Given the description of an element on the screen output the (x, y) to click on. 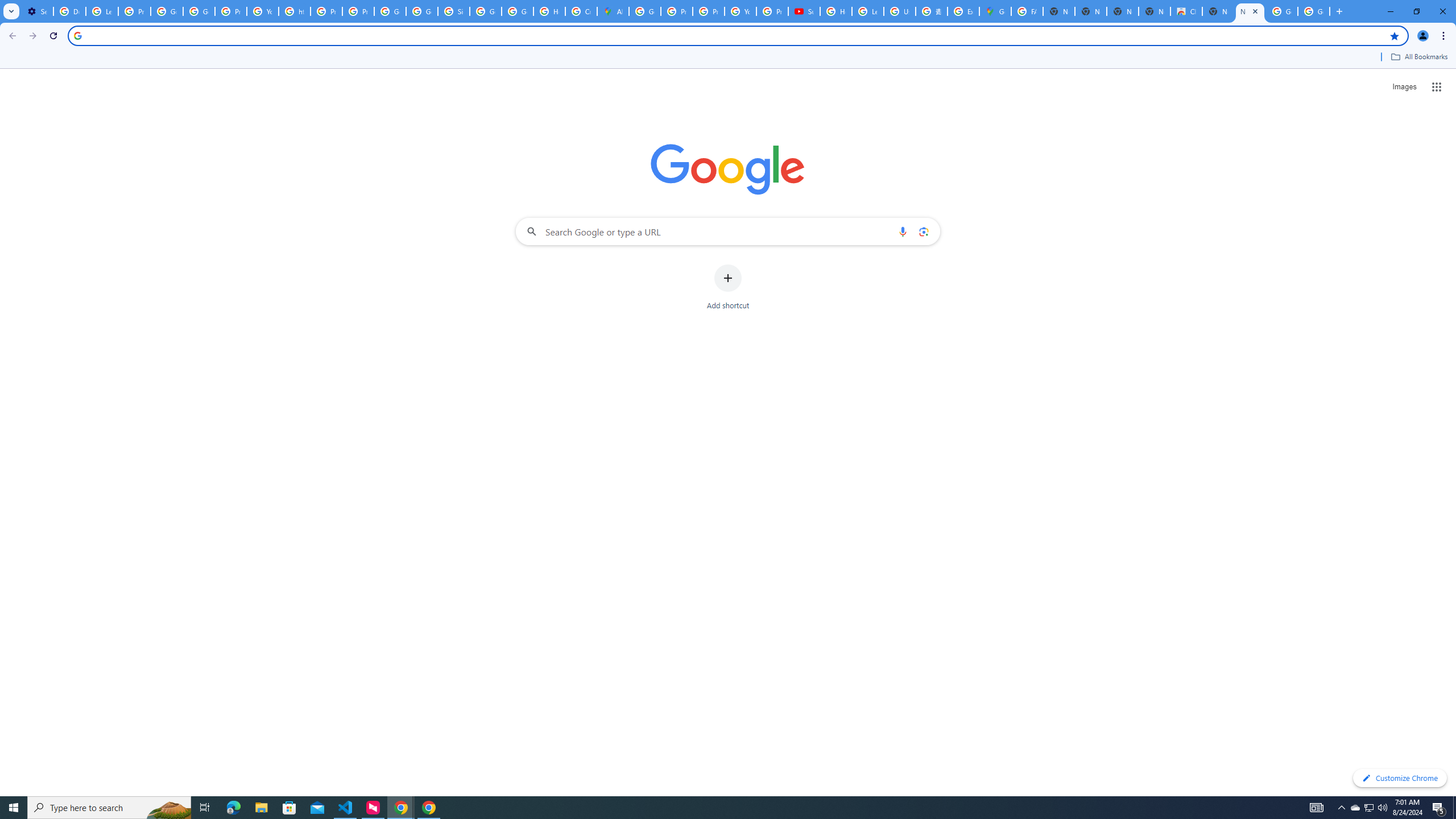
Google Images (1313, 11)
Chrome Web Store (1185, 11)
Create your Google Account (581, 11)
YouTube (740, 11)
Privacy Help Center - Policies Help (708, 11)
Settings - On startup (37, 11)
